Given the description of an element on the screen output the (x, y) to click on. 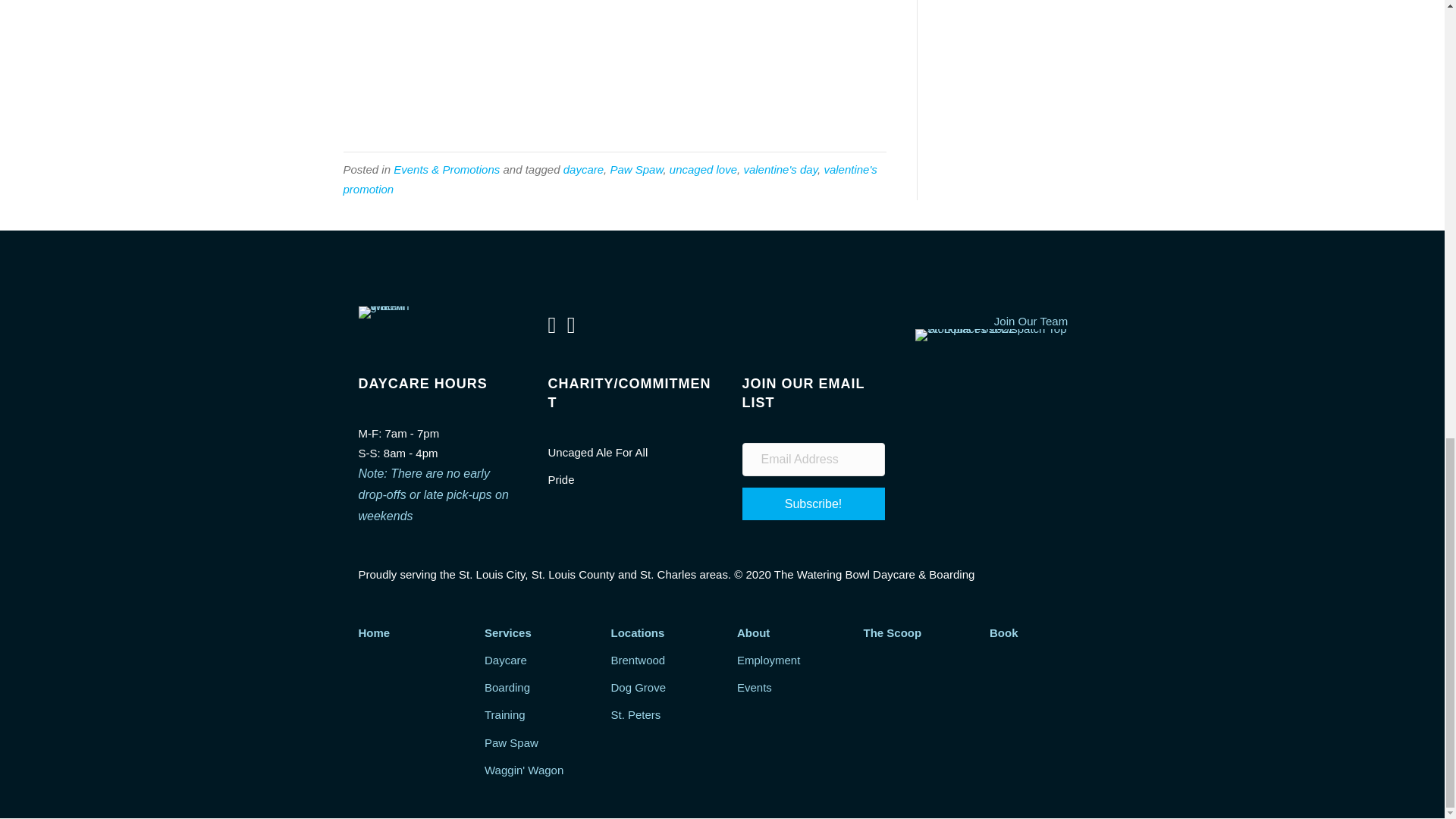
valentine's day (779, 169)
uncaged love (702, 169)
St. Louis Post-Dispatch Top Workplaces 2022 (1000, 335)
valentine's promotion (609, 178)
Paw Spaw (636, 169)
The Watering Bowl Logo White (384, 312)
daycare (583, 169)
